Given the description of an element on the screen output the (x, y) to click on. 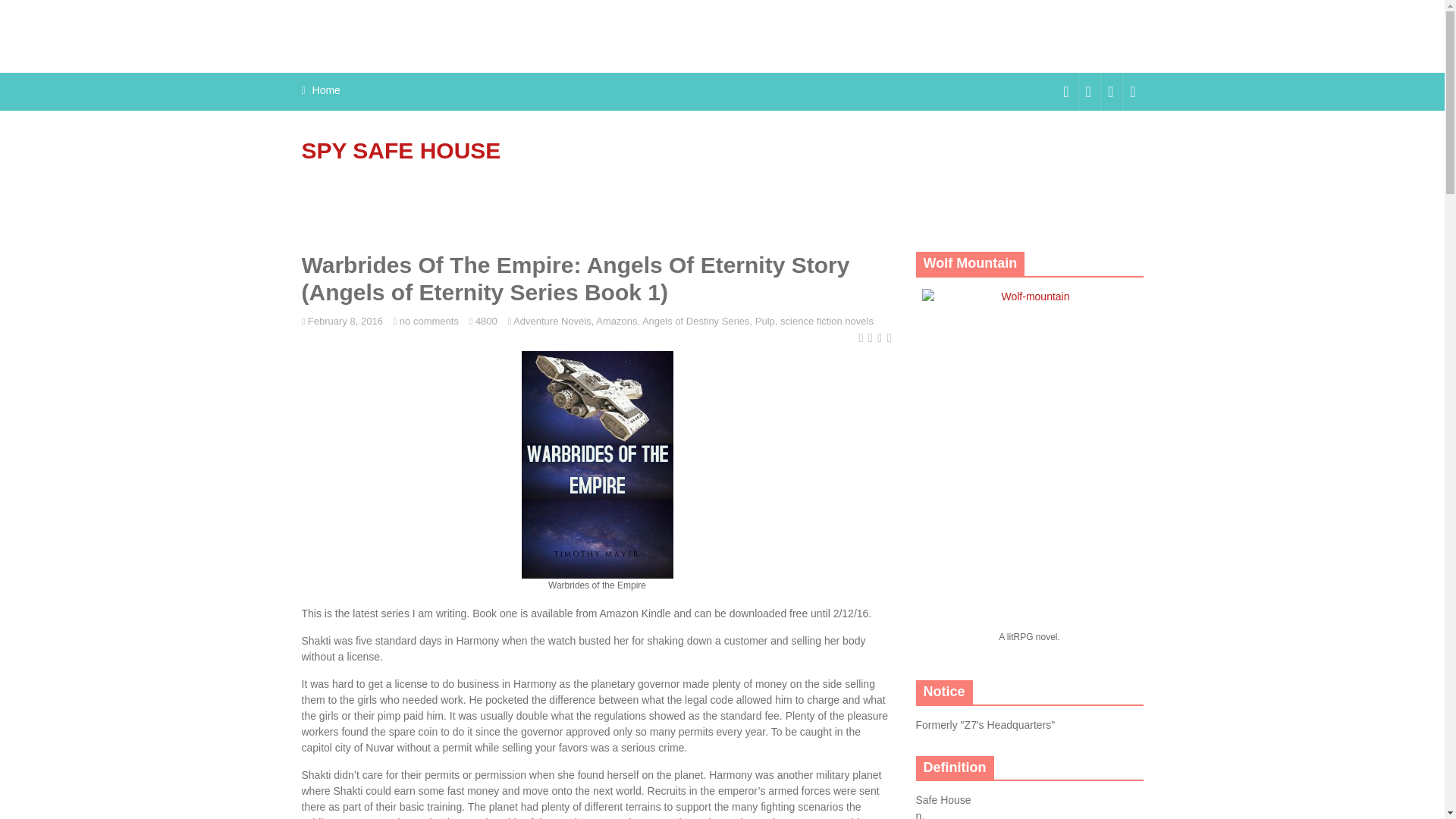
science fiction novels (826, 320)
Amazons (616, 320)
Adventure Novels (552, 320)
Angels of Destiny Series (695, 320)
Home (326, 90)
SPY SAFE HOUSE (400, 150)
Pulp (764, 320)
no comments (428, 320)
SPY SAFE HOUSE (400, 150)
